Given the description of an element on the screen output the (x, y) to click on. 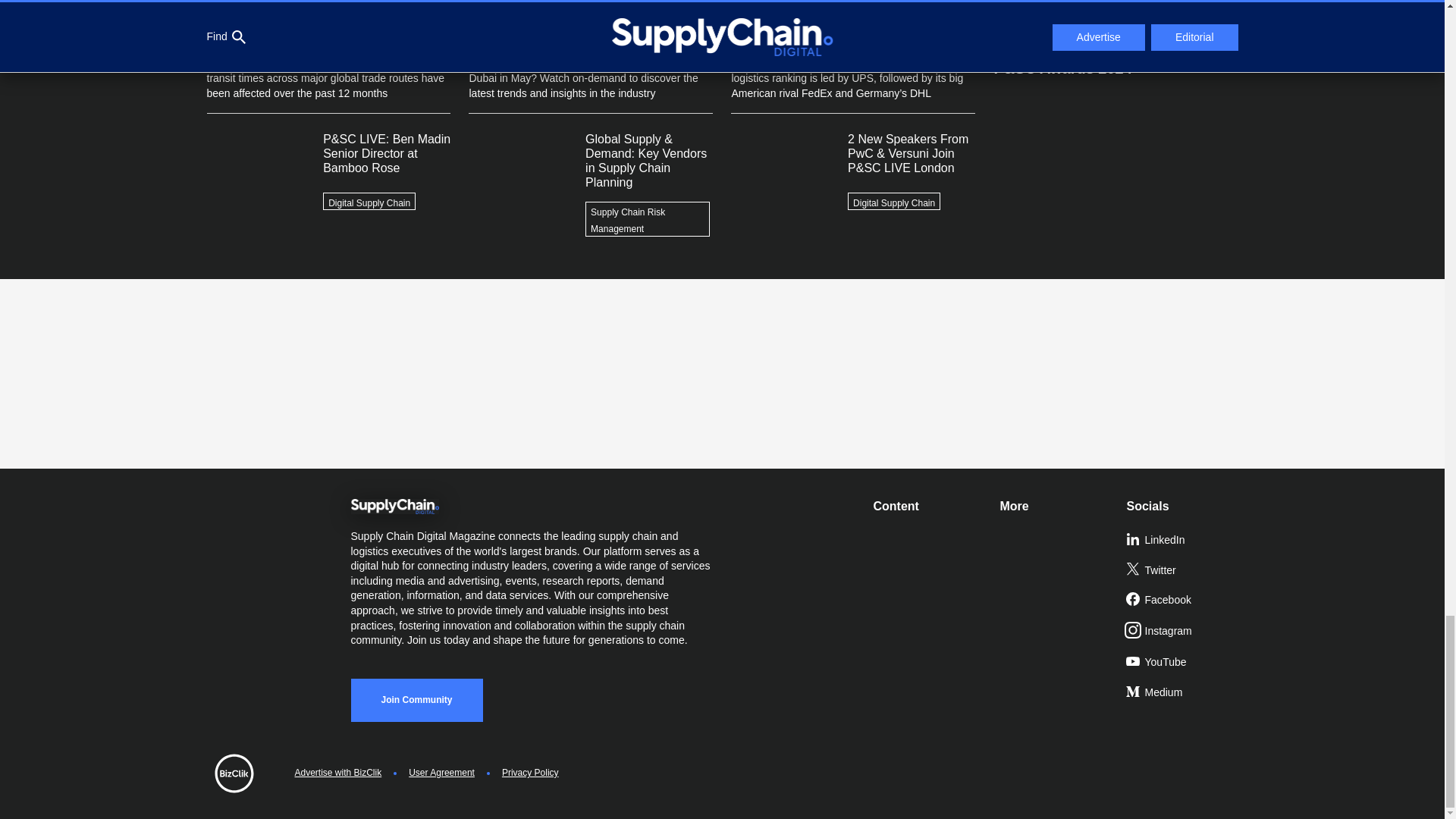
LinkedIn (1182, 540)
Twitter (1182, 571)
Join Community (415, 699)
